Given the description of an element on the screen output the (x, y) to click on. 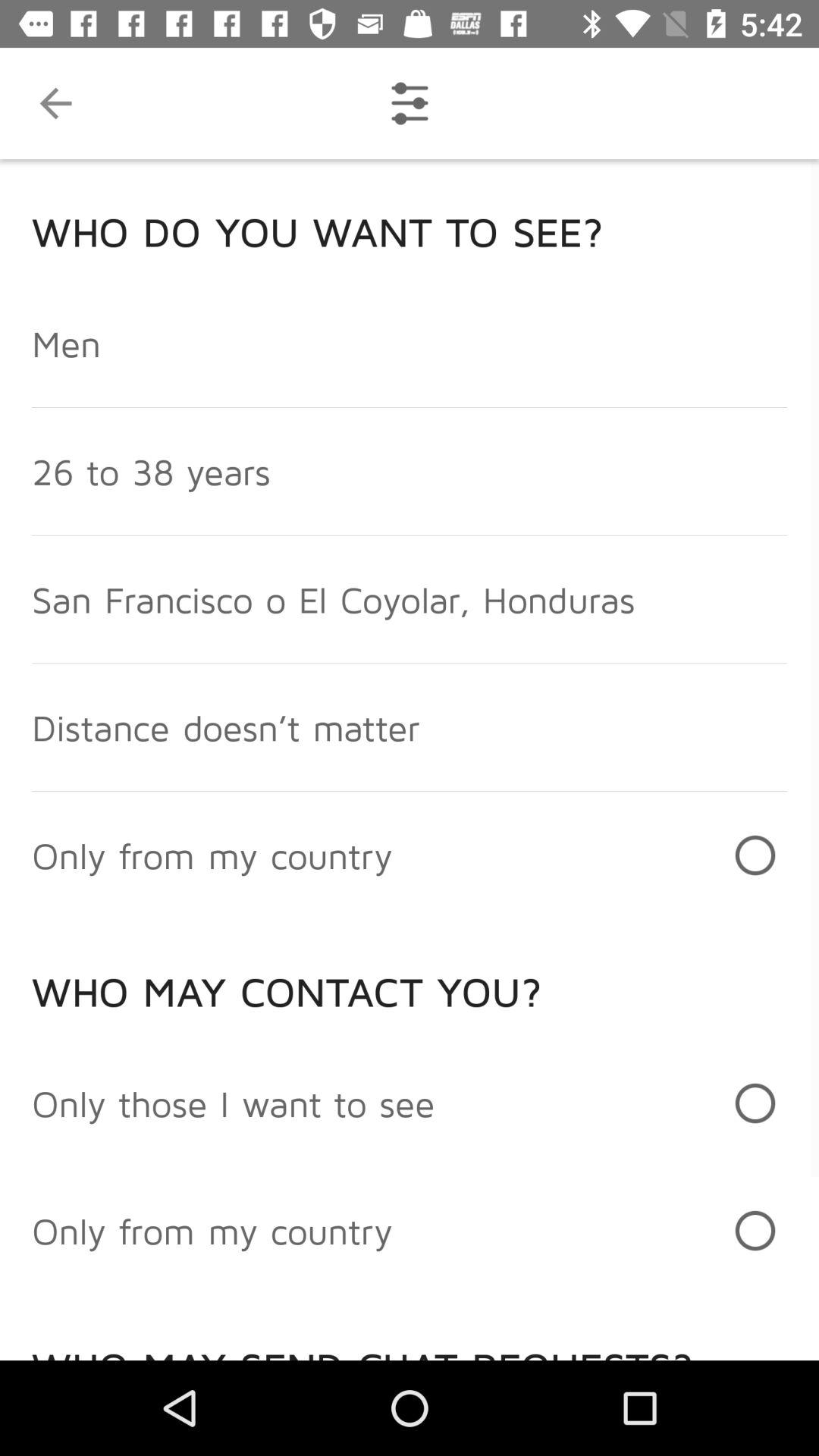
scroll until 26 to 38 (150, 471)
